Given the description of an element on the screen output the (x, y) to click on. 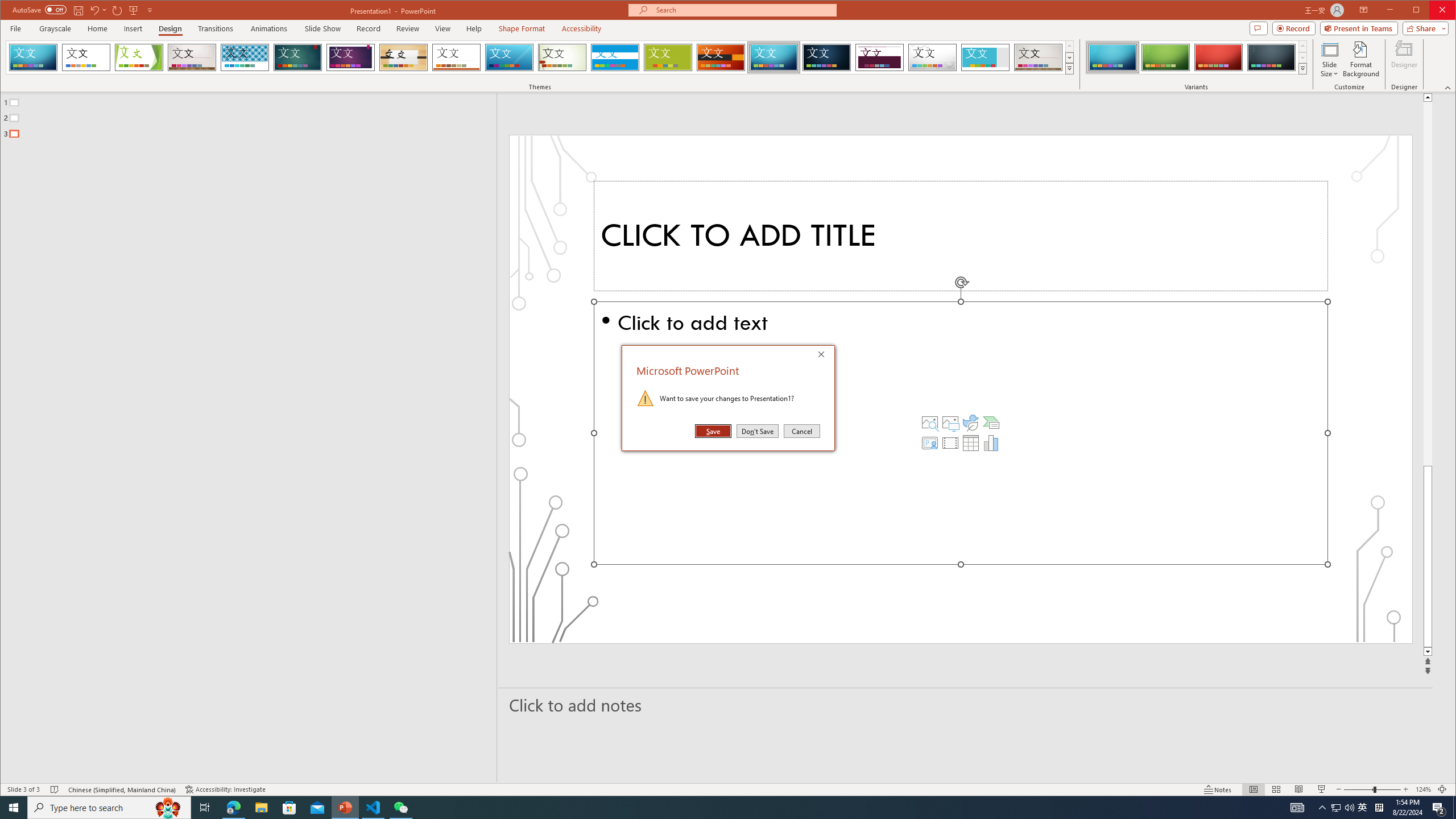
Notification Chevron (1322, 807)
Shape Format (521, 28)
Row up (1302, 46)
Show desktop (1454, 807)
